Given the description of an element on the screen output the (x, y) to click on. 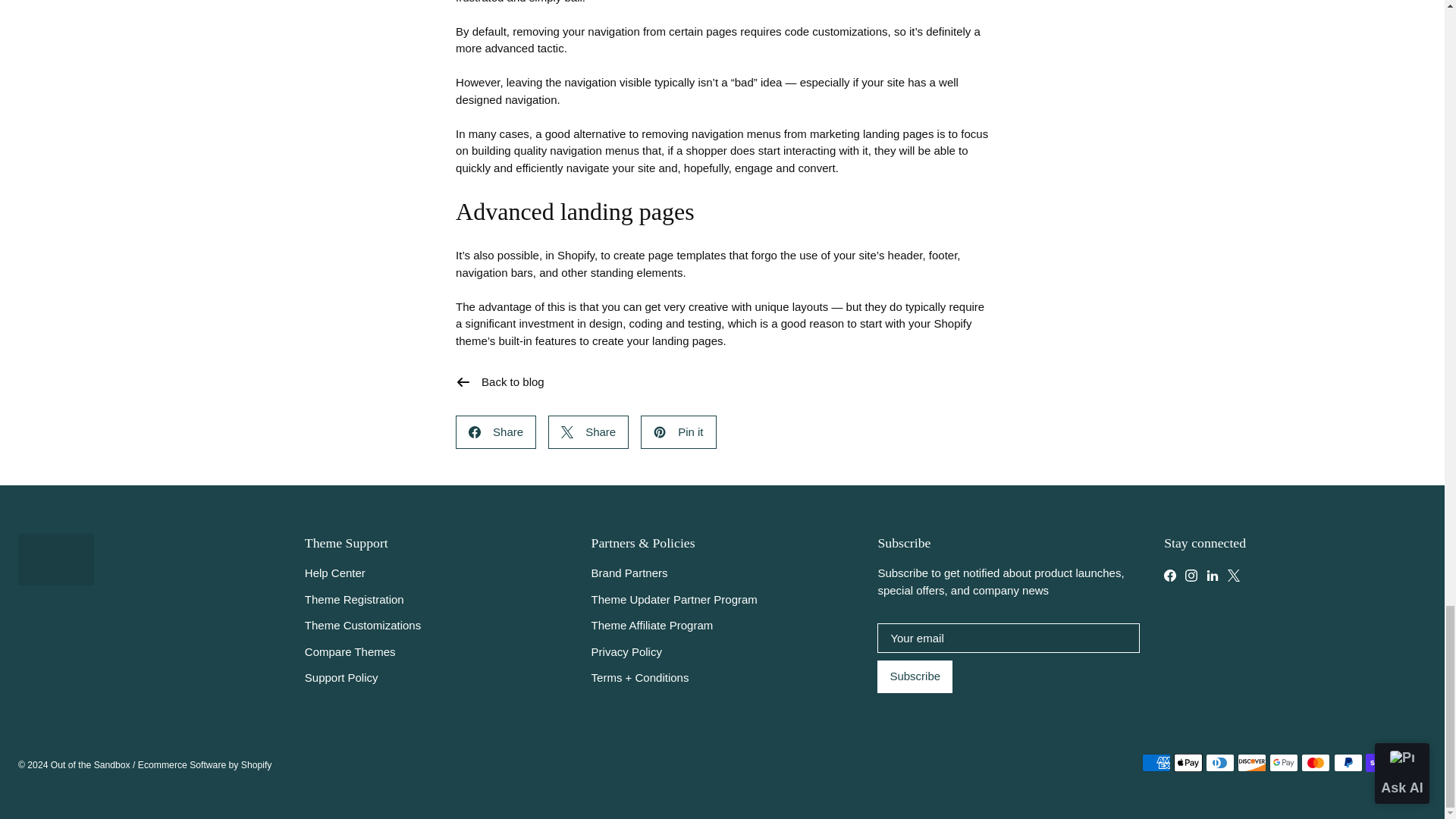
Discover (1251, 762)
Shop Pay (1379, 762)
Diners Club (1219, 762)
Google Pay (1283, 762)
Visa (1411, 762)
Mastercard (1315, 762)
Apple Pay (1187, 762)
American Express (1155, 762)
PayPal (1347, 762)
